Given the description of an element on the screen output the (x, y) to click on. 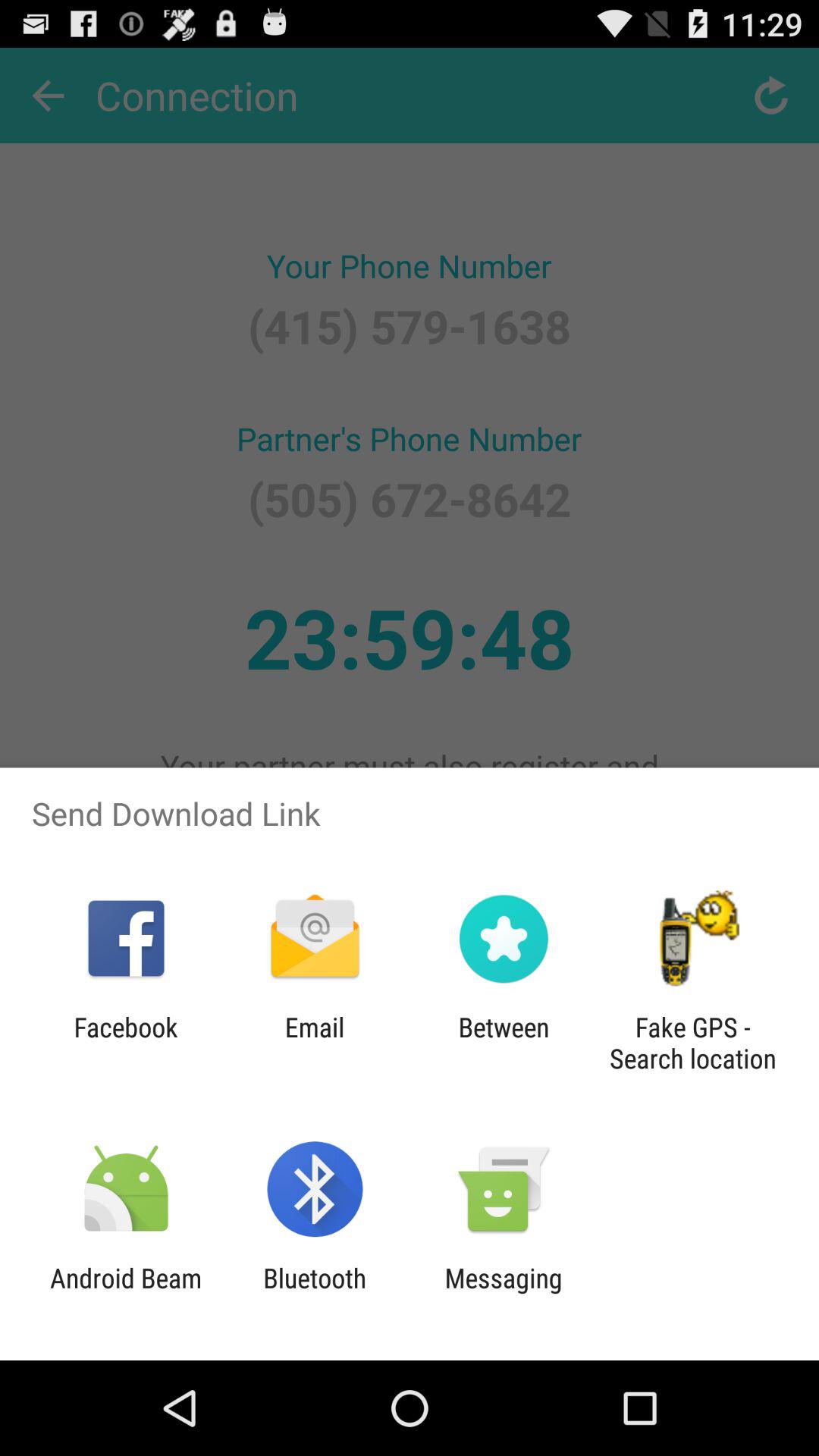
click icon next to the facebook icon (314, 1042)
